Given the description of an element on the screen output the (x, y) to click on. 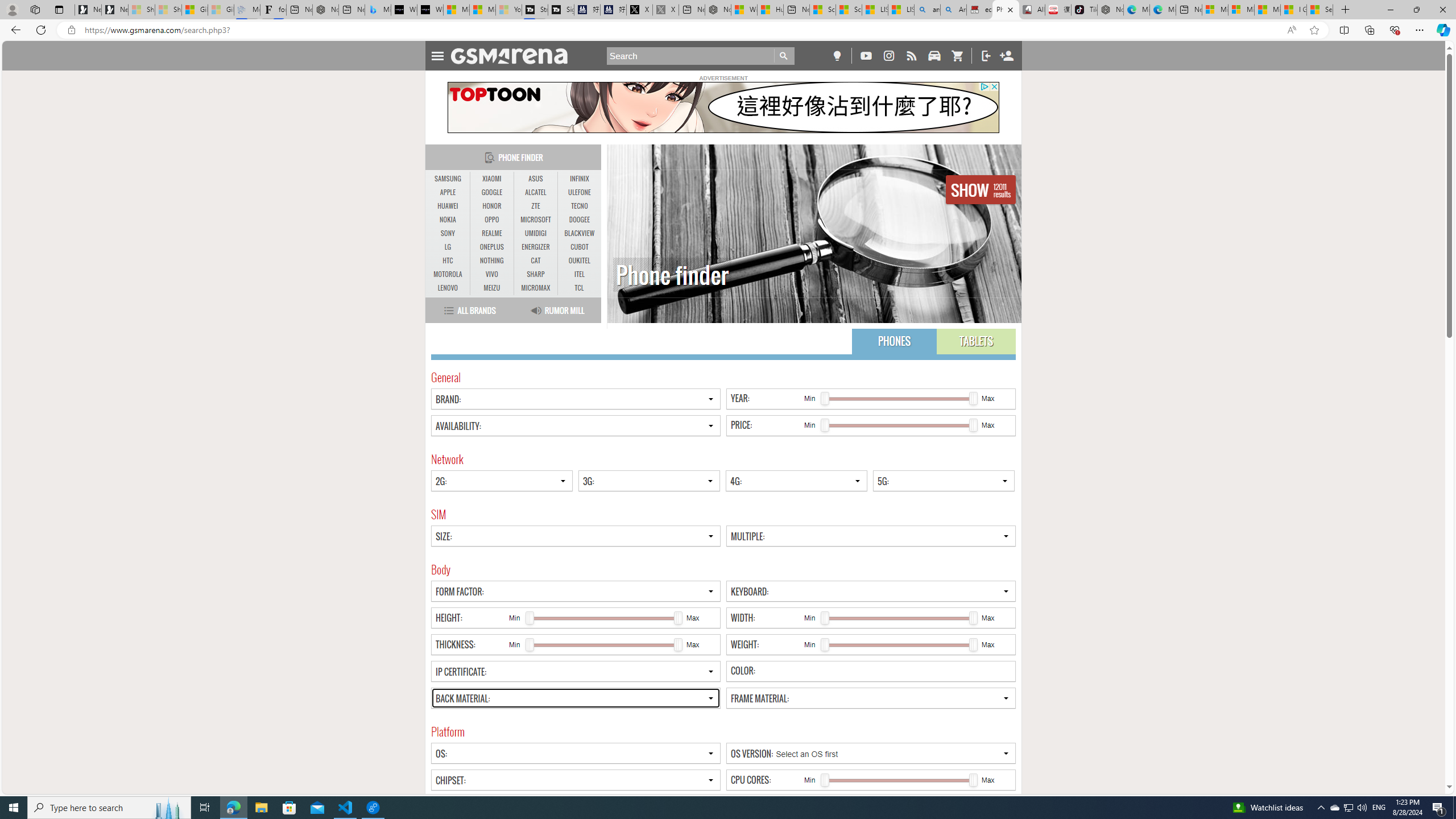
ALCATEL (535, 192)
HUAWEI (448, 205)
REALME (491, 233)
HONOR (491, 206)
BLACKVIEW (579, 233)
TCL (579, 287)
Phone Finder - search for a phone by feature - GSMArena.com (1005, 9)
